Given the description of an element on the screen output the (x, y) to click on. 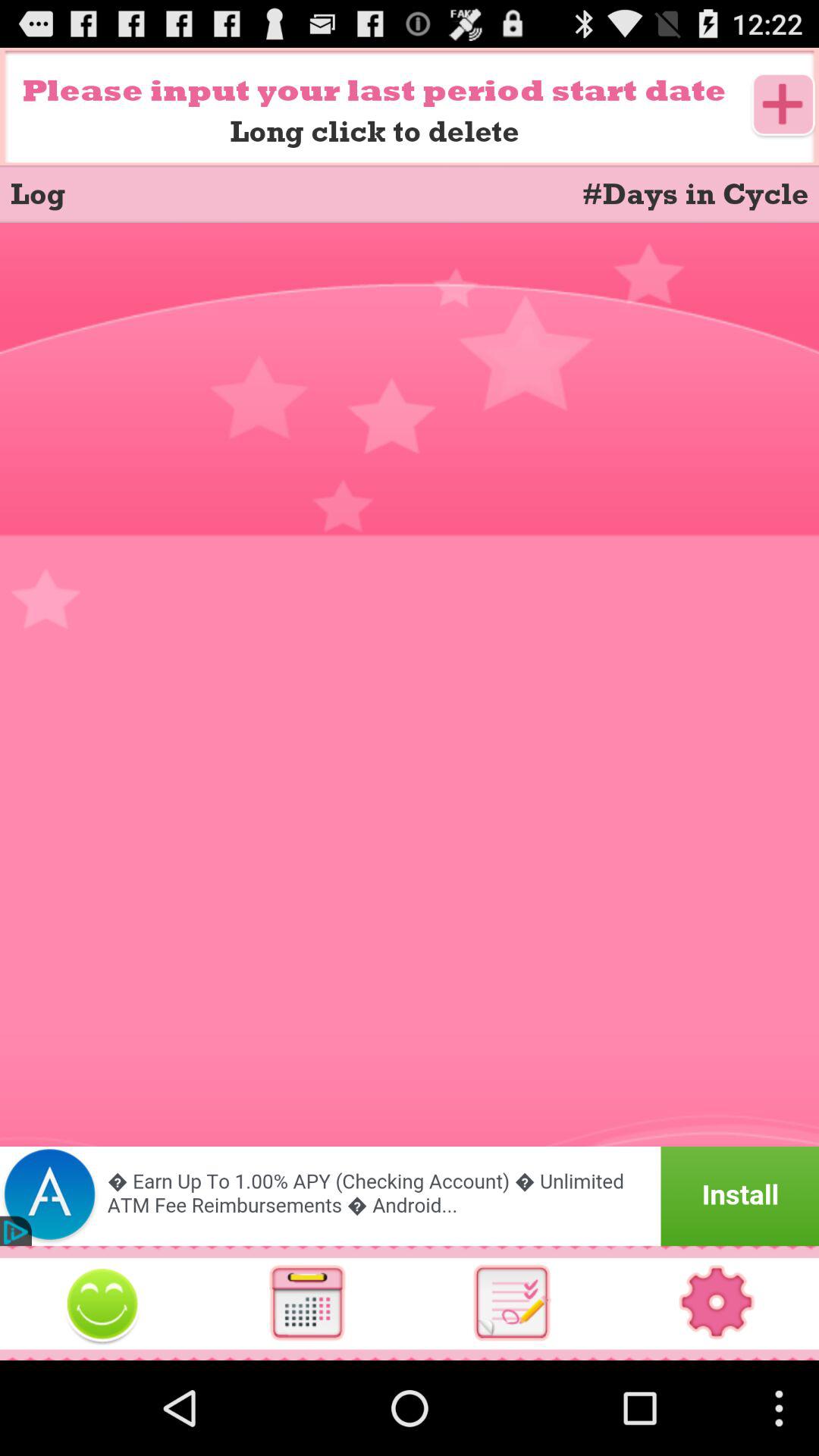
see notes (511, 1302)
